Given the description of an element on the screen output the (x, y) to click on. 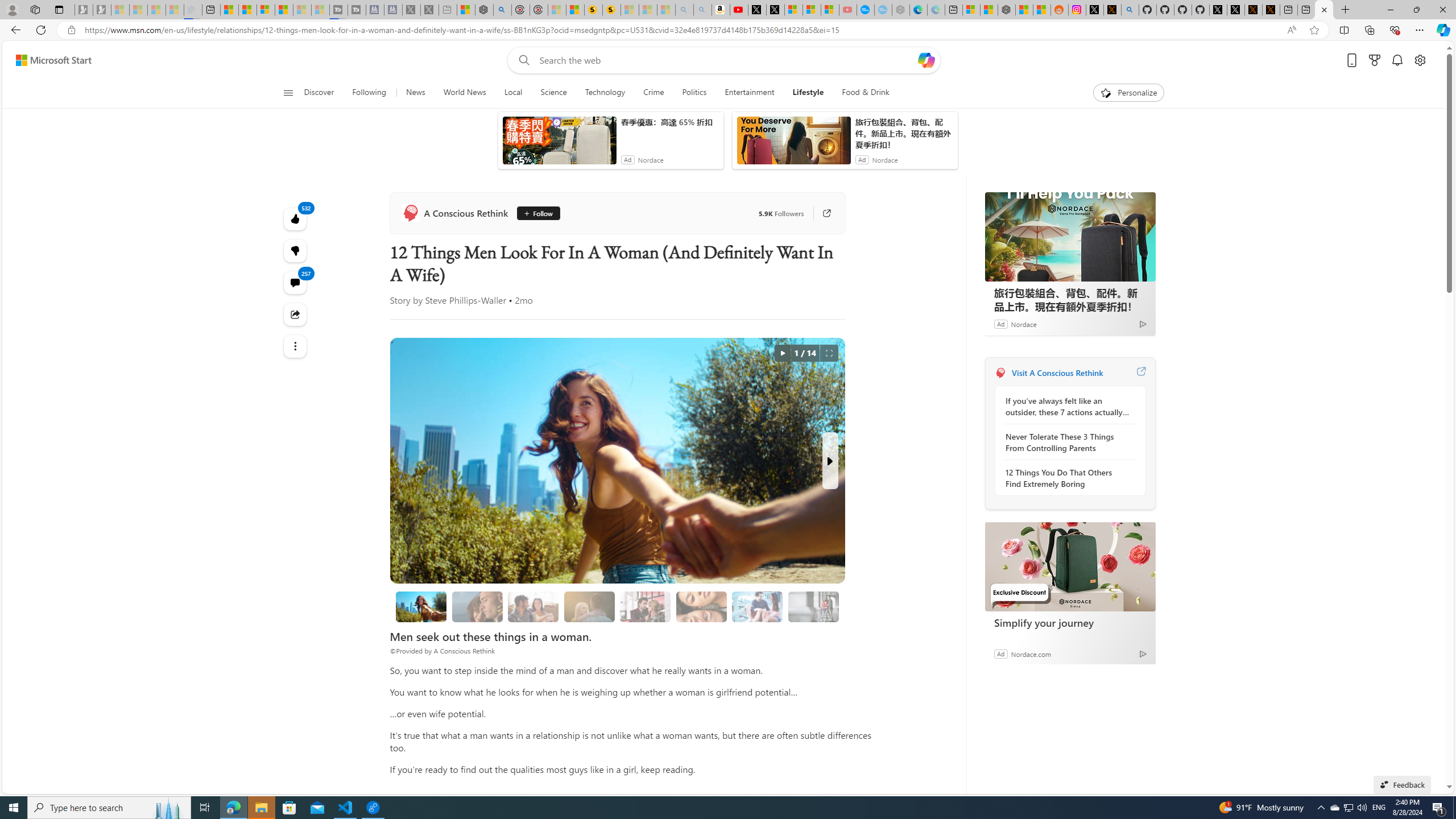
Shopping (705, 151)
How Shein Is Revolutionizing The Fashion Industry? (807, 307)
Real Estate (893, 151)
Fierce Heat Returns In Midwest Sparking Severe Storm Threats (807, 298)
X (759, 9)
News (398, 151)
AutomationID: tab-29 (506, 328)
X - Sleeping (424, 9)
Live Science (647, 270)
Login | Grammarly (712, 49)
Reuters (299, 424)
USA TODAY (647, 270)
Streaming Coverage | T3 - Sleeping (336, 9)
Nordace - Nordace has arrived Hong Kong - Sleeping (882, 9)
Sports (432, 151)
